Given the description of an element on the screen output the (x, y) to click on. 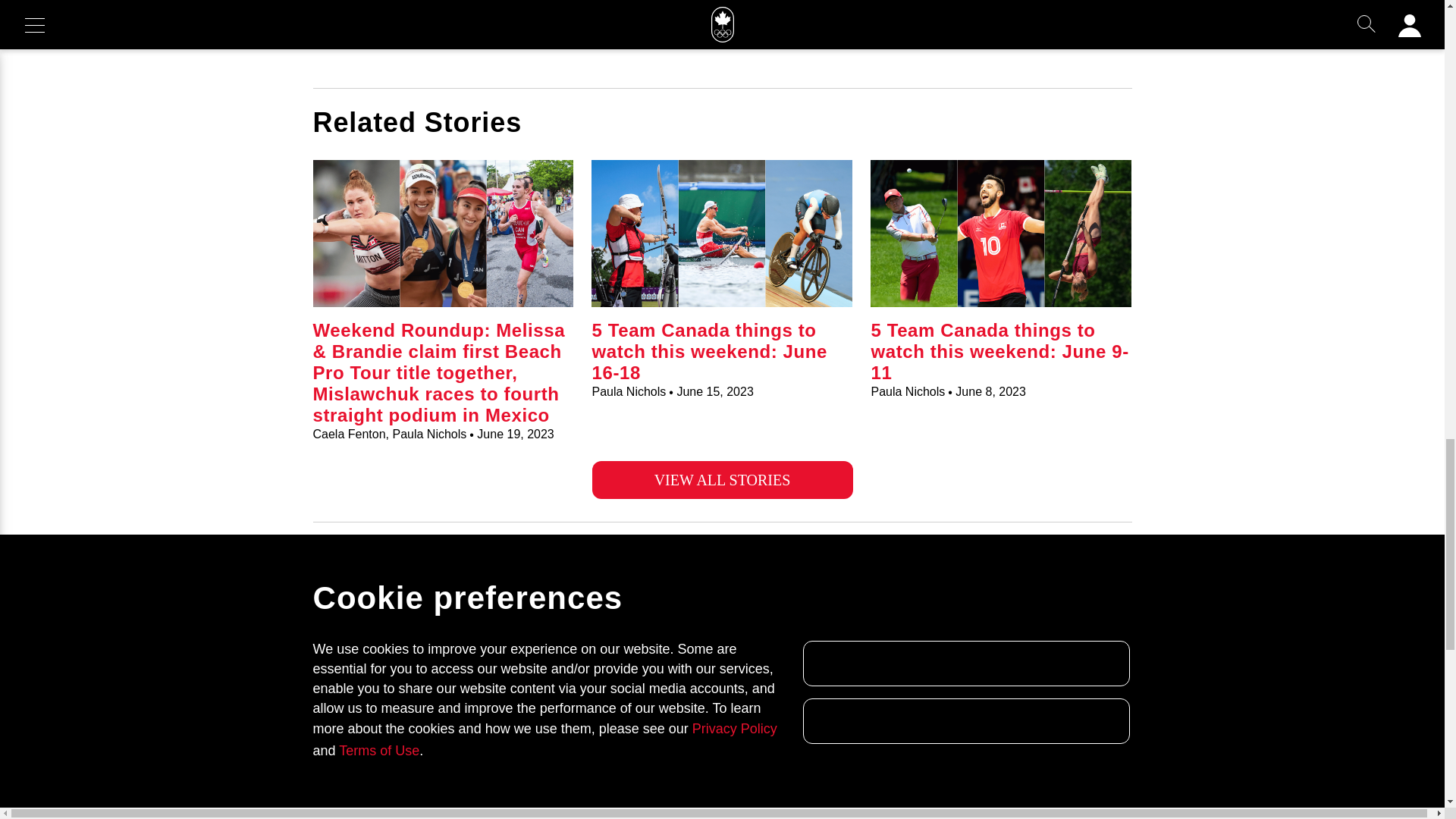
3rd party ad content (722, 32)
